Given the description of an element on the screen output the (x, y) to click on. 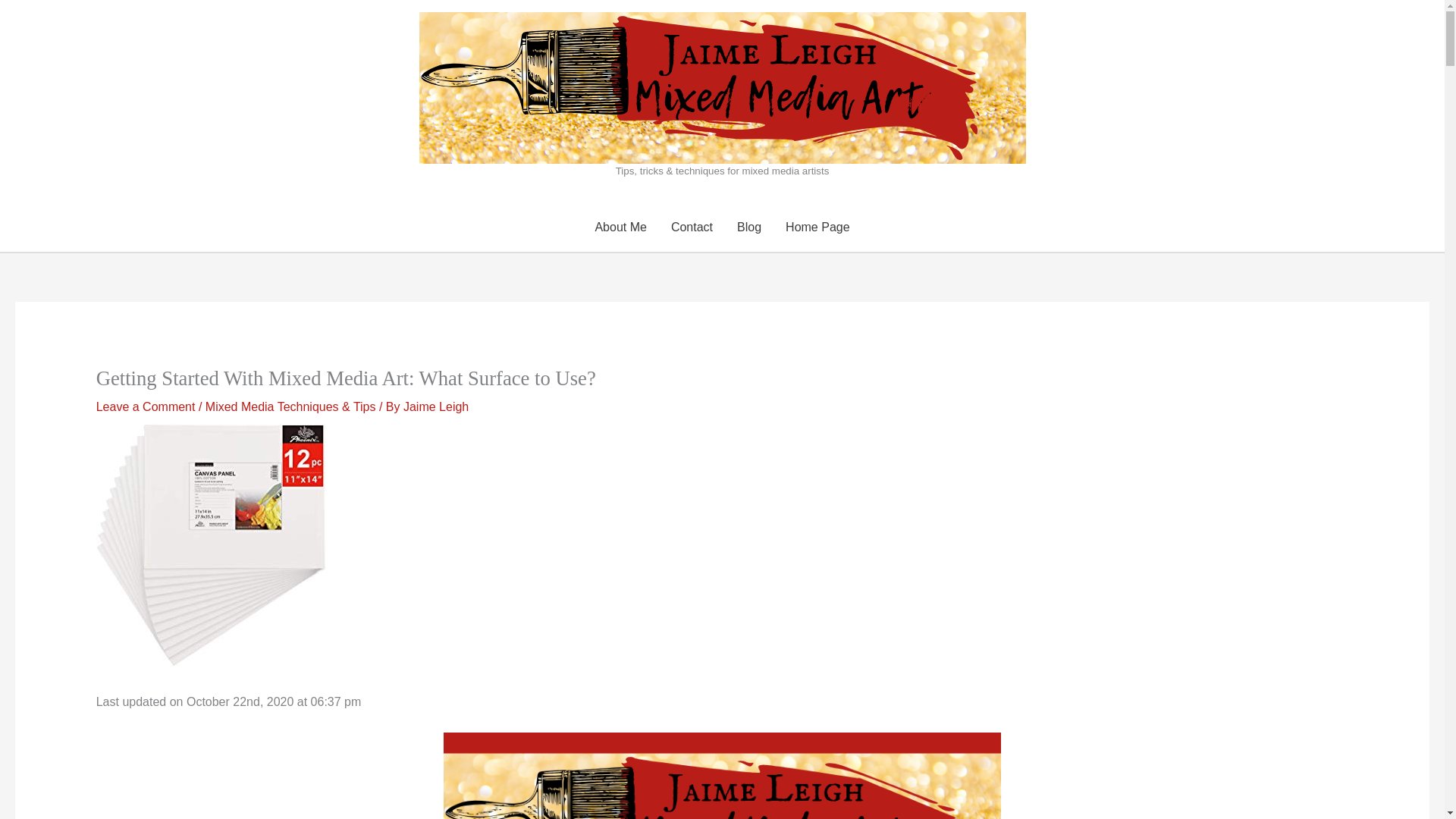
About Me (620, 227)
Contact (692, 227)
Jaime Leigh (435, 406)
Blog (749, 227)
View all posts by Jaime Leigh (435, 406)
Leave a Comment (145, 406)
Home Page (817, 227)
